Given the description of an element on the screen output the (x, y) to click on. 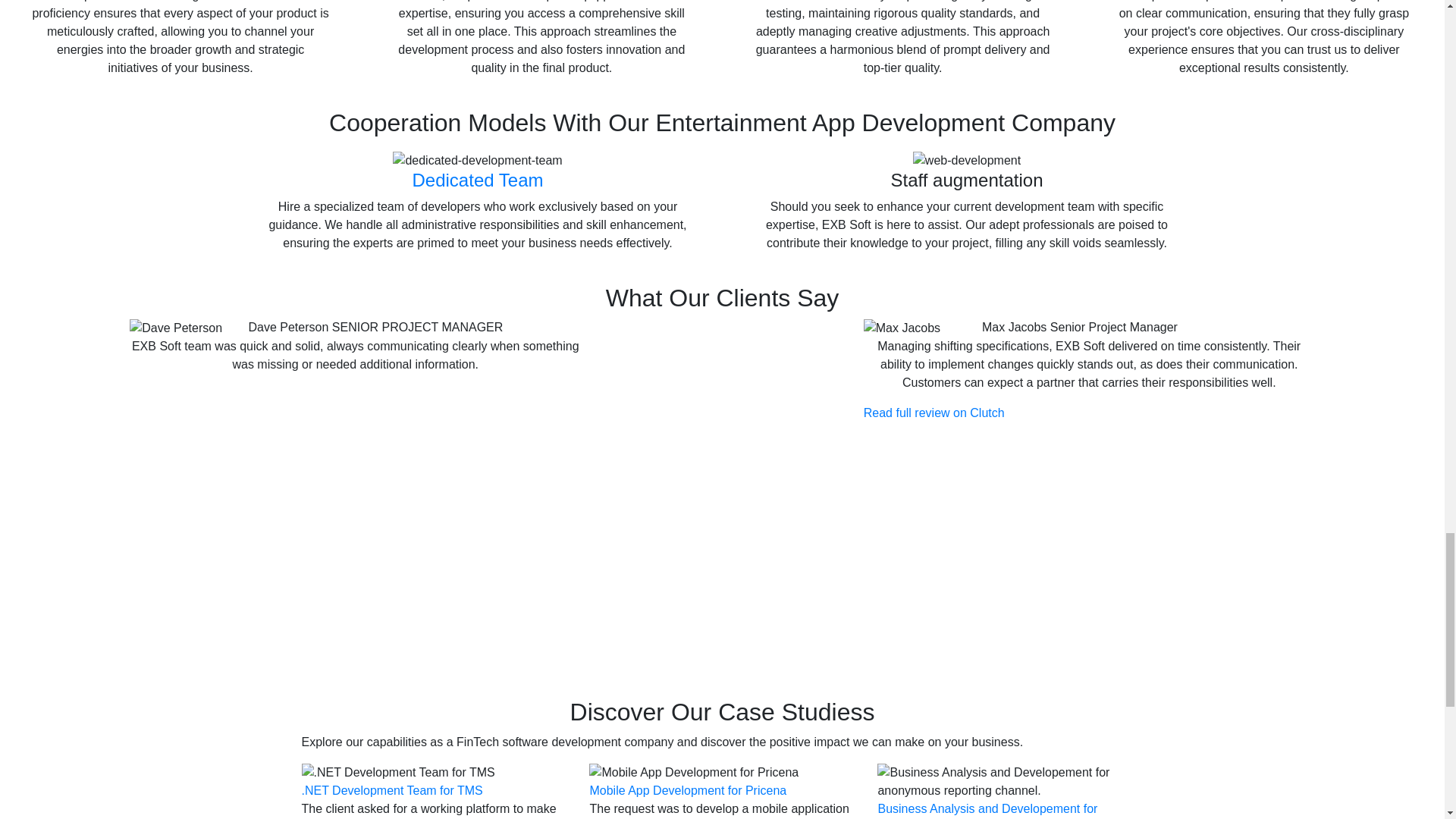
Mobile App Development for Pricena (687, 789)
Dedicated Team (477, 179)
.NET Development Team for TMS (392, 789)
